Given the description of an element on the screen output the (x, y) to click on. 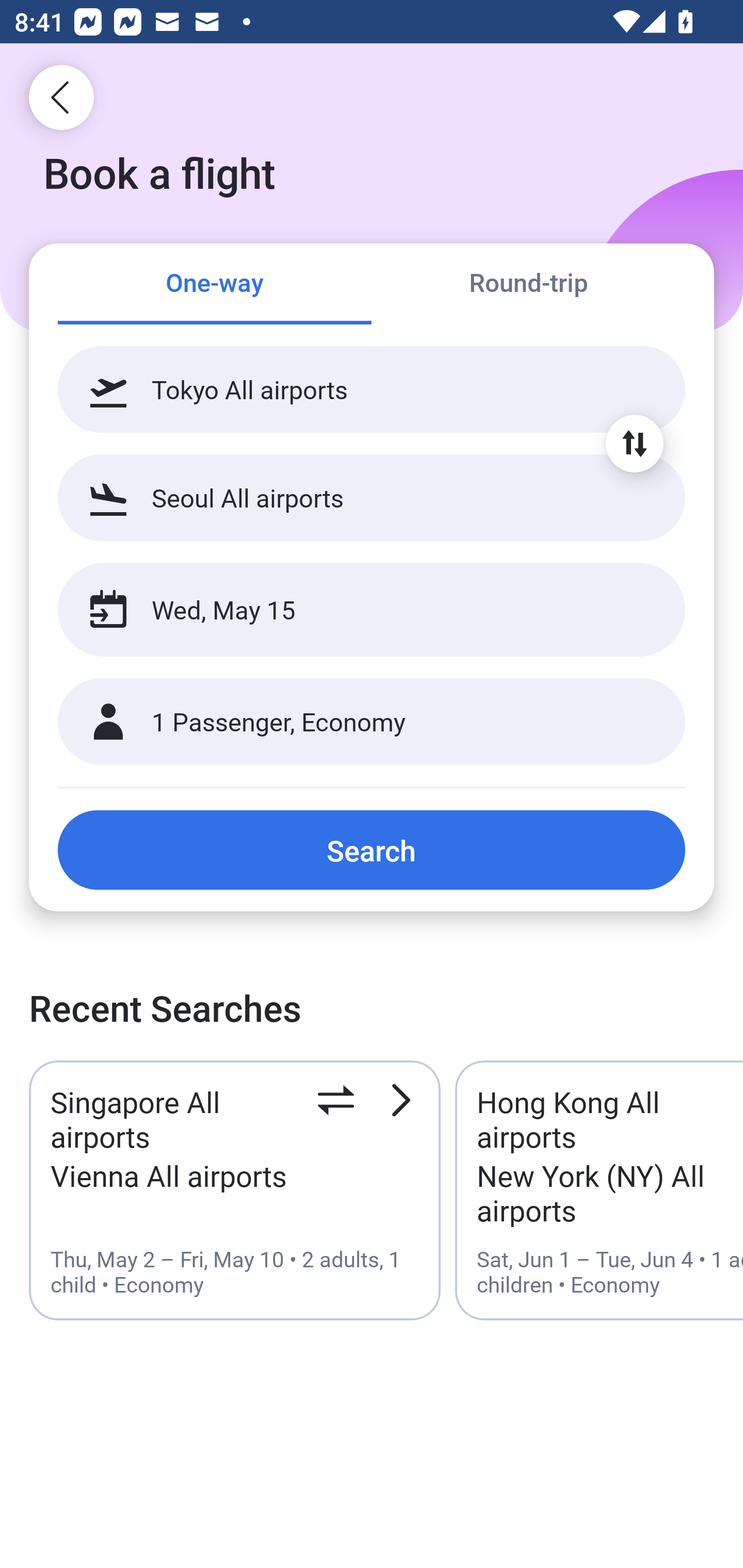
Round-trip (528, 284)
Tokyo All airports (371, 389)
Seoul All airports (371, 497)
Wed, May 15 (349, 609)
1 Passenger, Economy (371, 721)
Search (371, 849)
